Given the description of an element on the screen output the (x, y) to click on. 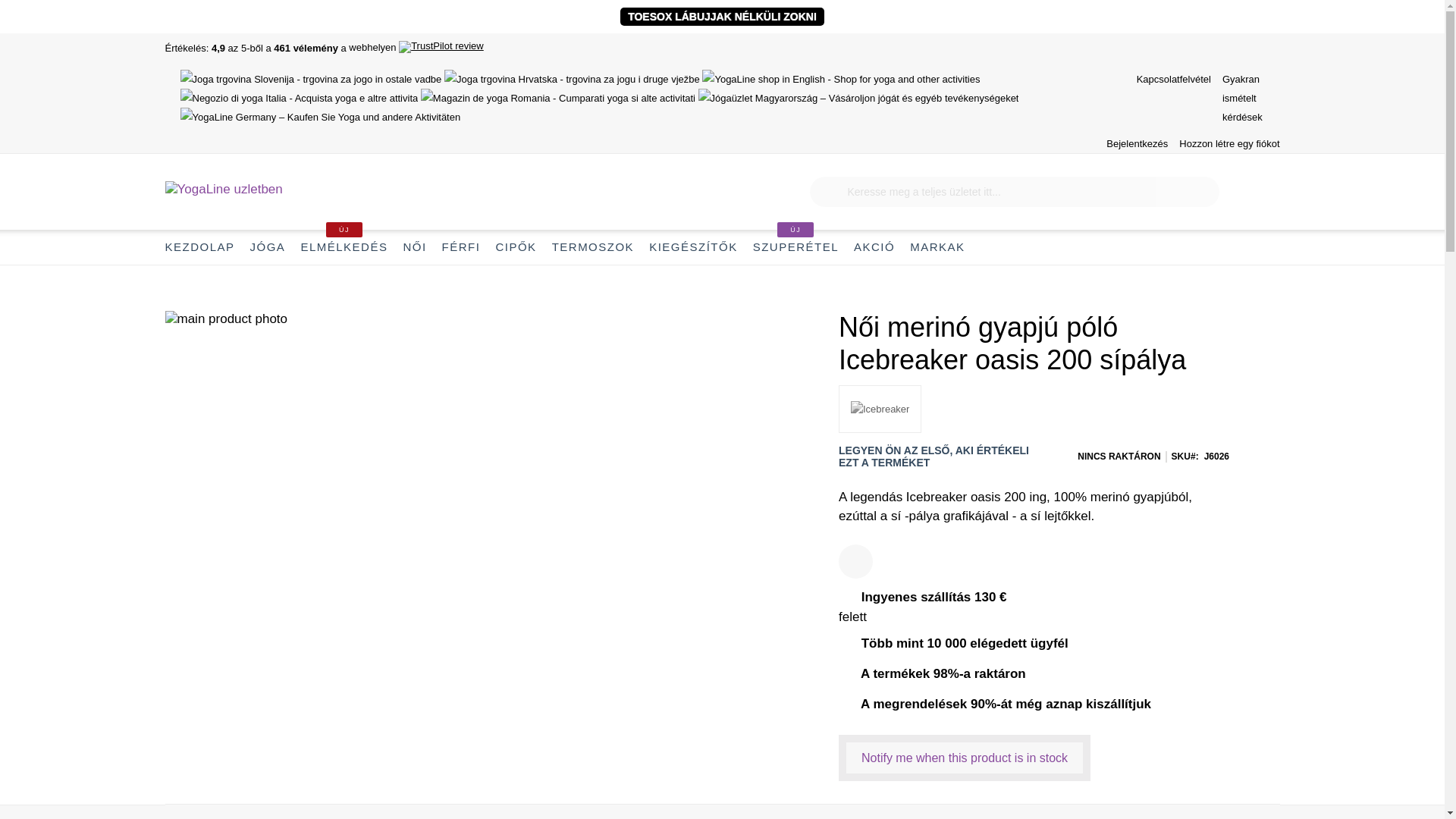
Negozio di yoga Italia - Acquista yoga e altre attivita (299, 98)
Contact (1174, 79)
YogaLine uzletben (223, 190)
Magazin de yoga Romania - Cumparati yoga si alte activitati (557, 98)
JogaLine - trgovina za jogo in ostale vadbe (311, 79)
YogaLine - Shop for yoga and other activities (840, 79)
A kosaram (1264, 191)
KEZDOLAP (204, 247)
